Given the description of an element on the screen output the (x, y) to click on. 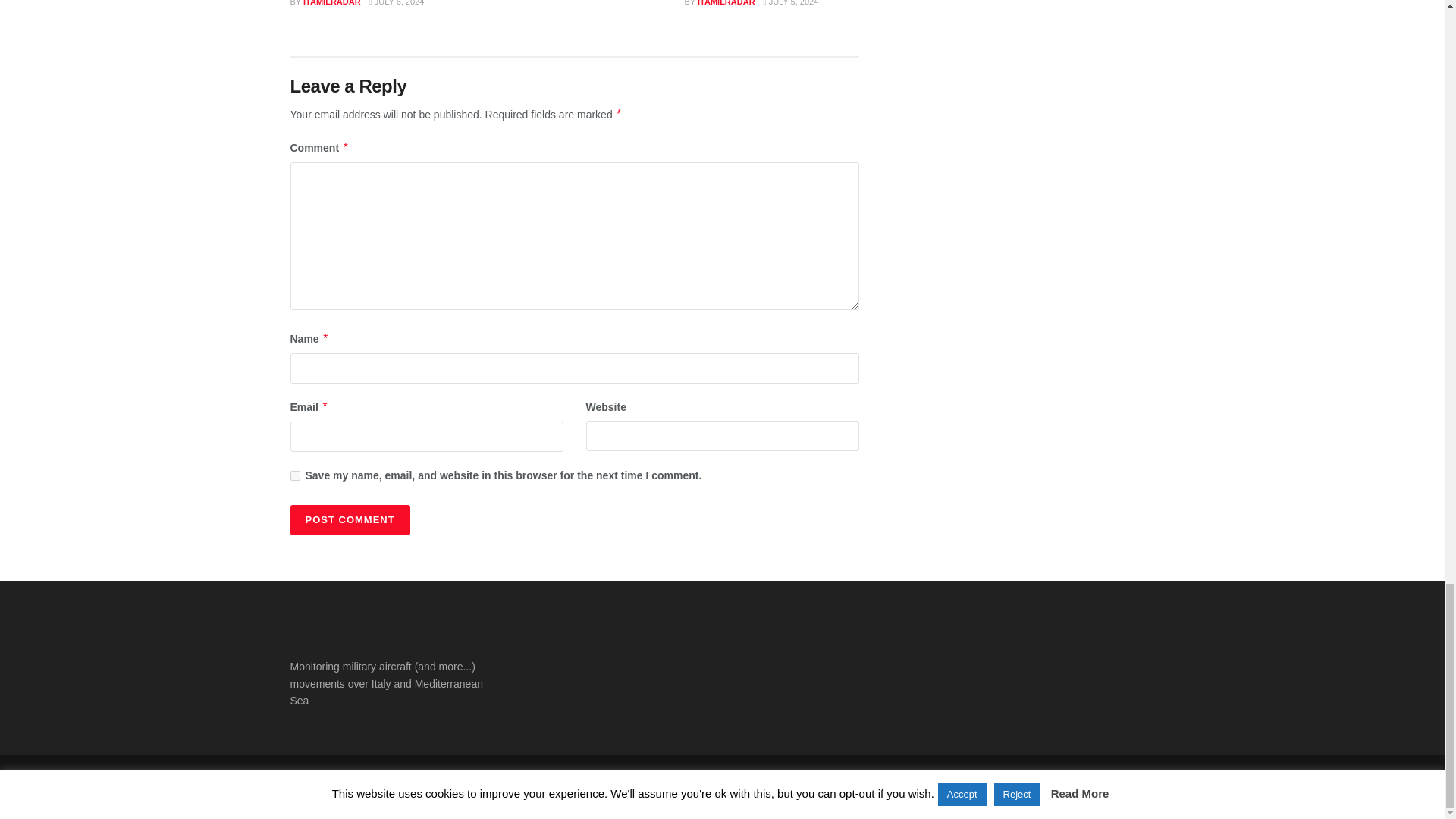
yes (294, 475)
Post Comment (349, 520)
